Given the description of an element on the screen output the (x, y) to click on. 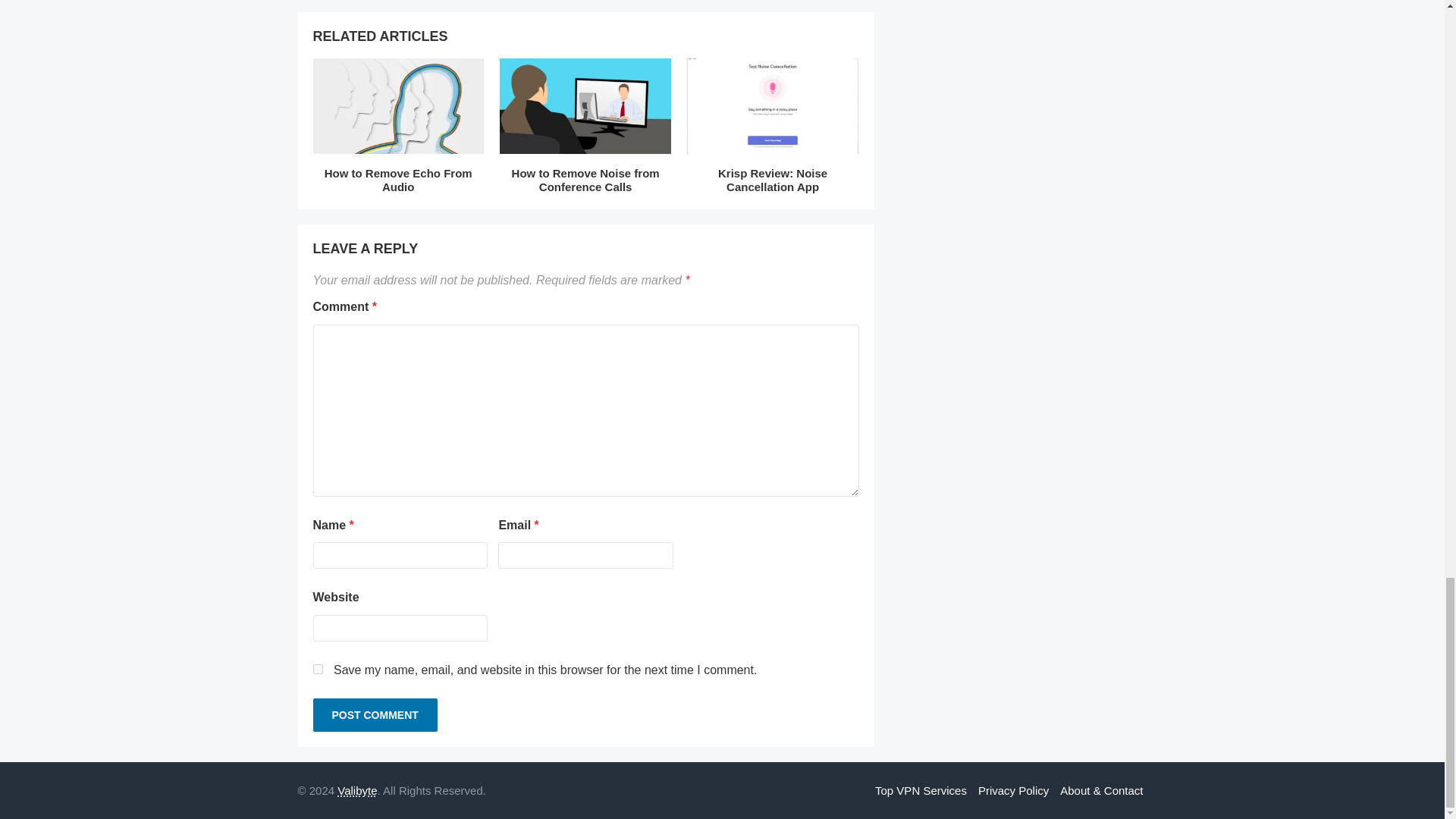
How to Remove Echo From Audio (397, 180)
Post Comment (374, 715)
How to Remove Noise from Conference Calls (585, 180)
How to Remove Echo From Audio (397, 180)
yes (317, 669)
Post Comment (374, 715)
Krisp Review: Noise Cancellation App (772, 108)
Valibyte (357, 789)
Krisp Review: Noise Cancellation App (772, 180)
How to Remove Noise from Conference Calls (584, 108)
Krisp Review: Noise Cancellation App (772, 180)
How to Remove Noise from Conference Calls (585, 180)
How to Remove Echo From Audio (398, 108)
